Given the description of an element on the screen output the (x, y) to click on. 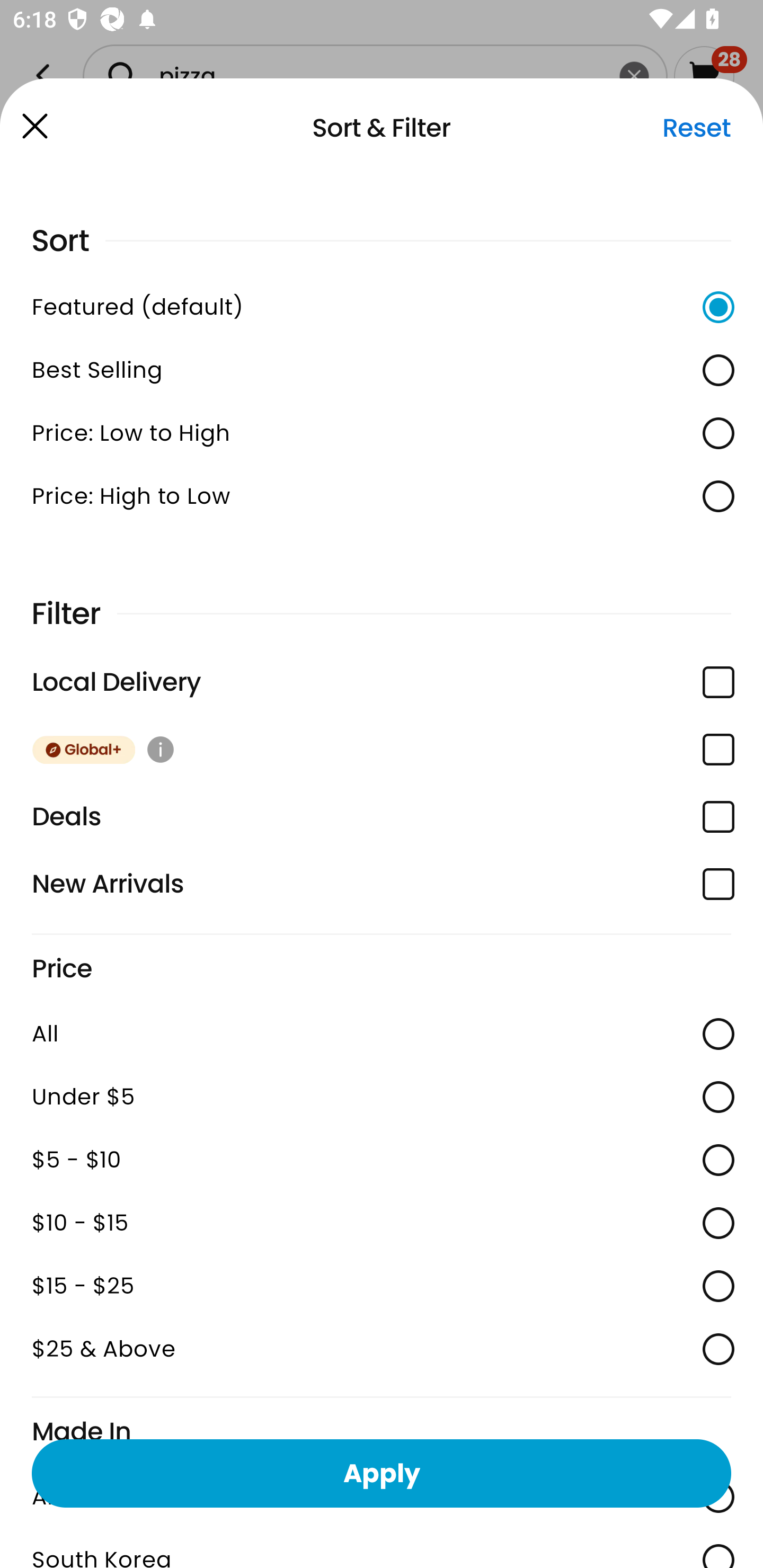
Reset (696, 127)
Apply (381, 1472)
